Given the description of an element on the screen output the (x, y) to click on. 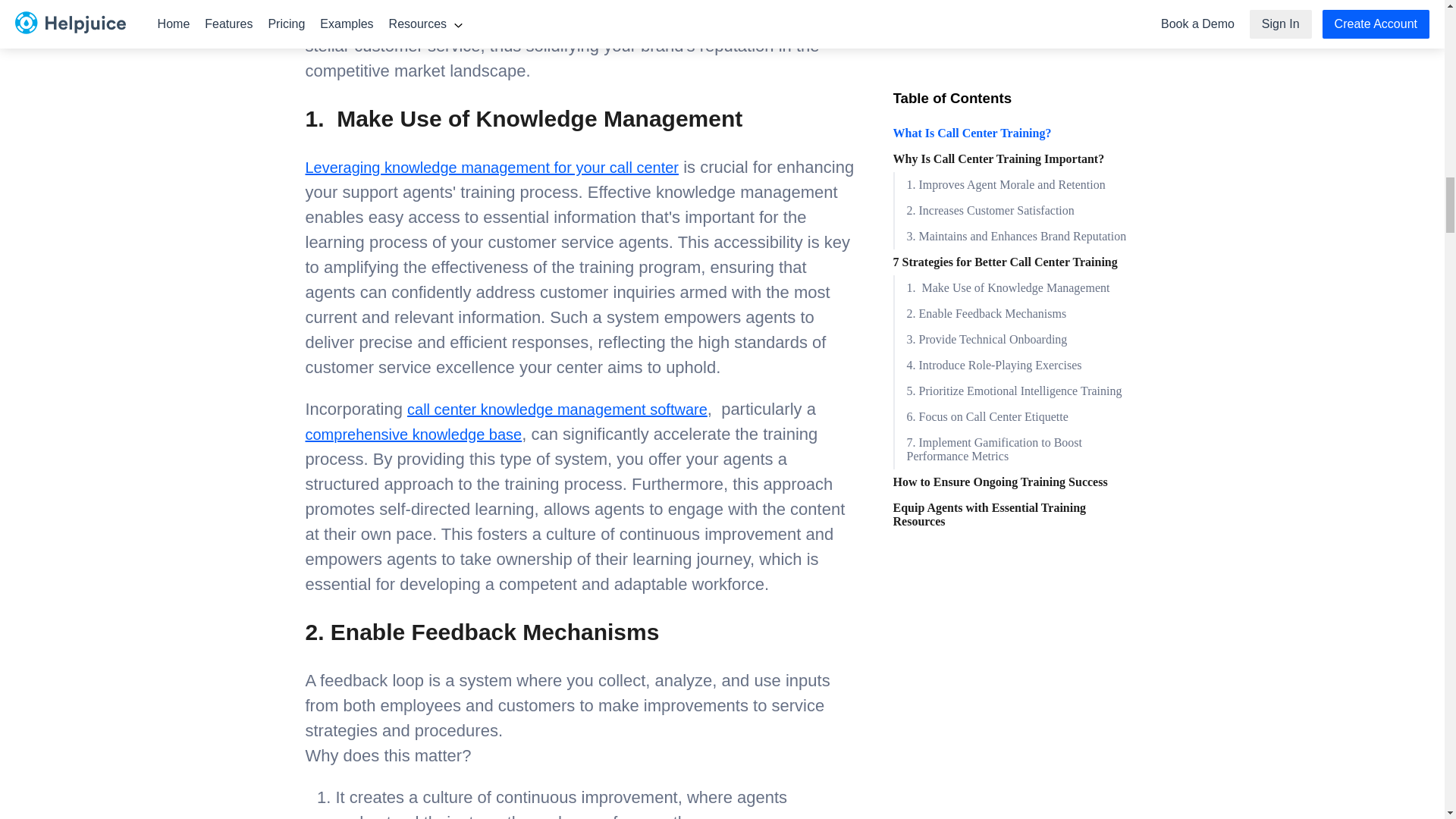
comprehensive knowledge base (412, 434)
Leveraging knowledge management for your call center (491, 167)
call center knowledge management software (557, 409)
